Given the description of an element on the screen output the (x, y) to click on. 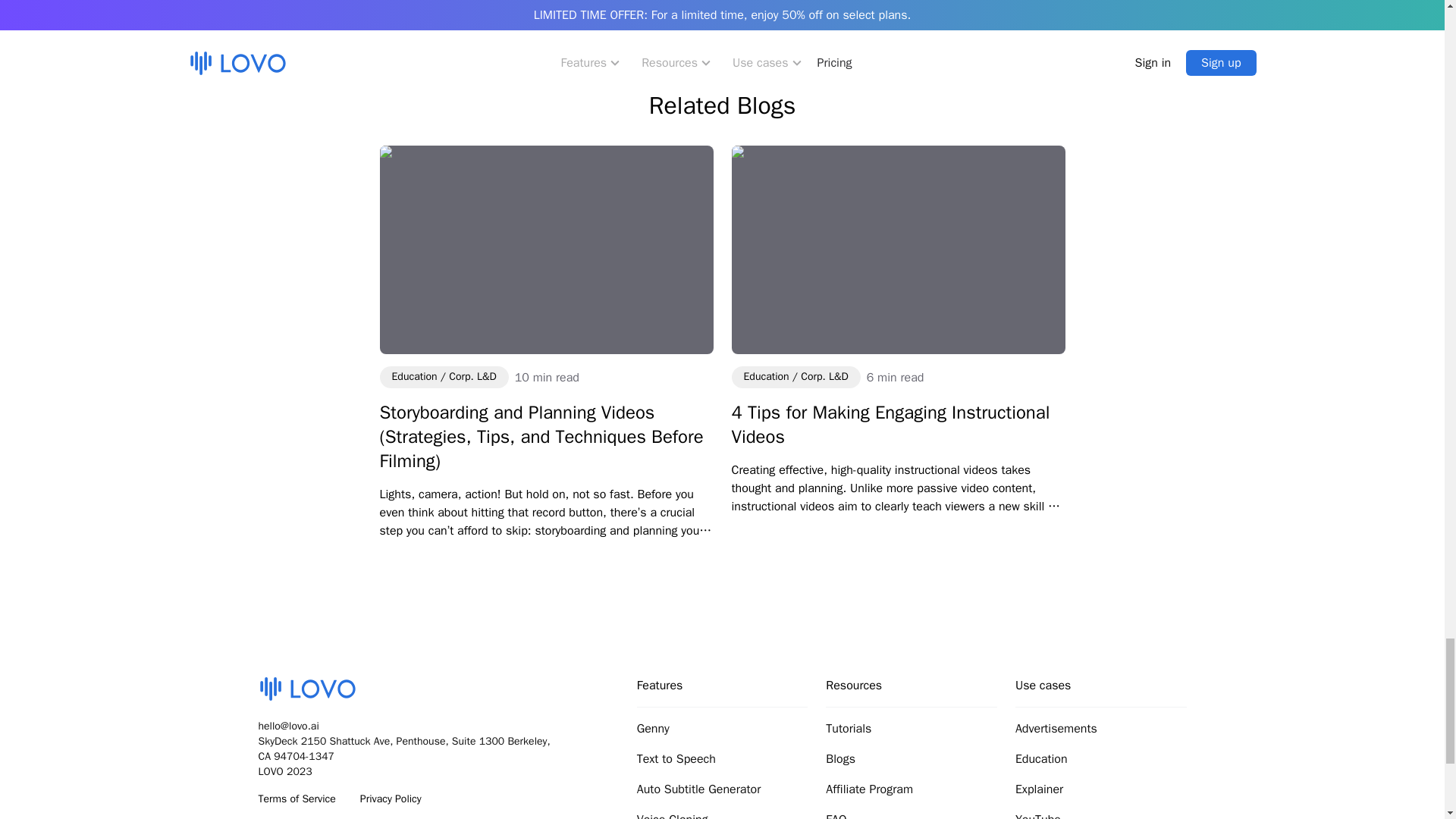
Privacy Policy (390, 798)
Terms of Service (295, 798)
